Given the description of an element on the screen output the (x, y) to click on. 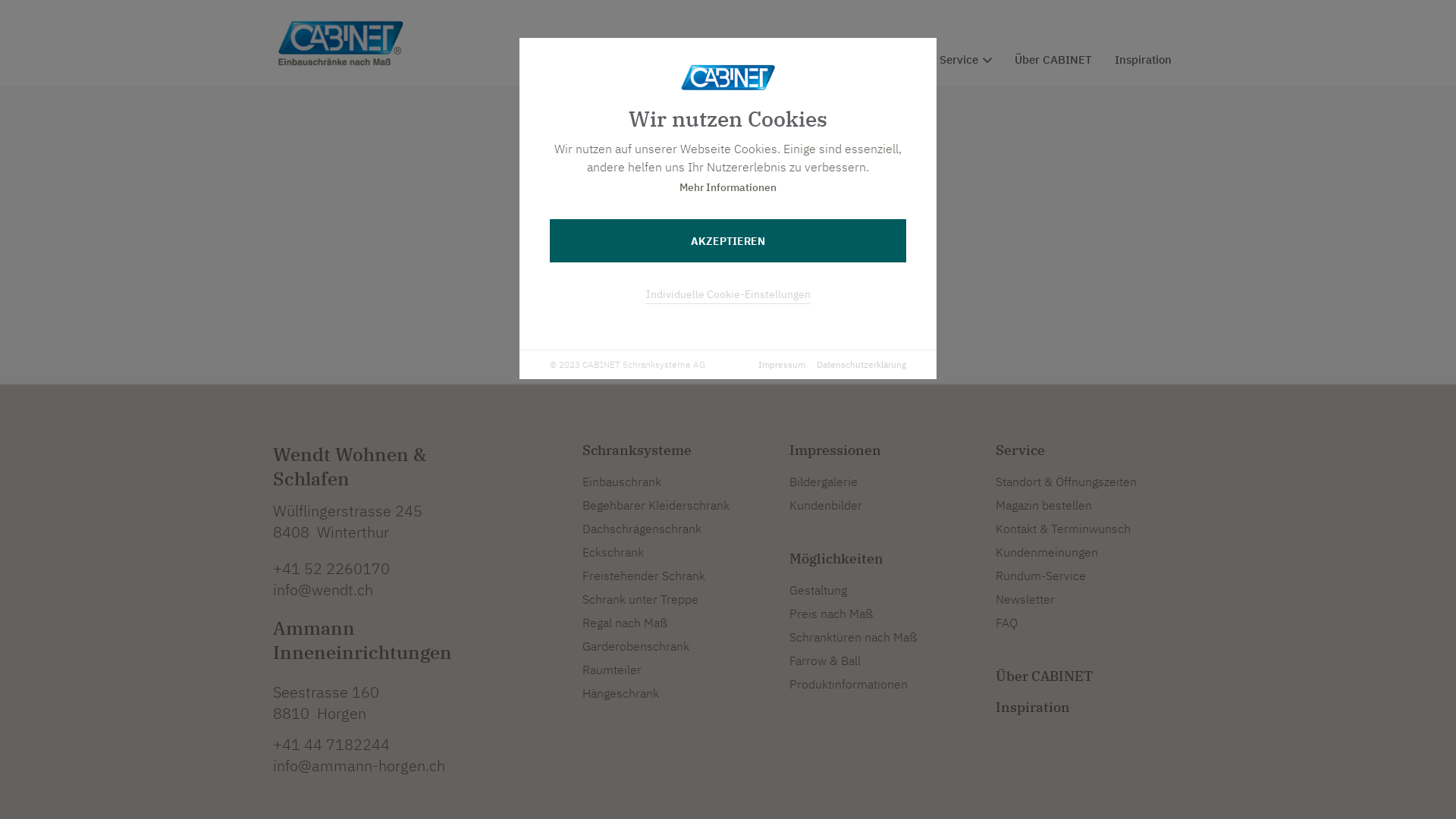
Newsletter Element type: text (1024, 598)
Schranksysteme Element type: text (650, 59)
Produktinformationen Element type: text (848, 683)
+41 44 7182244 Element type: text (331, 744)
Inspiration Element type: text (1032, 706)
Impressionen Element type: text (835, 449)
Einbauschrank Element type: text (621, 481)
Impressum Element type: text (781, 364)
Rundum-Service Element type: text (1040, 575)
Freistehender Schrank Element type: text (643, 575)
FAQ Element type: text (1006, 622)
Individuelle Cookie-Einstellungen Element type: text (728, 294)
Bildergalerie Element type: text (823, 481)
Garderobenschrank Element type: text (635, 645)
Raumteiler Element type: text (611, 669)
+41 52 2260170 Element type: text (331, 568)
Service Element type: text (965, 59)
Magazin bestellen Element type: text (1066, 14)
AKZEPTIEREN Element type: text (727, 240)
Umwelt Element type: text (1155, 14)
Schranksysteme Element type: text (636, 449)
Begehbarer Kleiderschrank Element type: text (655, 504)
Magazin bestellen Element type: text (1043, 504)
Inspiration Element type: text (1143, 59)
Mehr Informationen Element type: text (727, 187)
info@ammann-horgen.ch Element type: text (359, 765)
info@wendt.ch Element type: text (323, 589)
Schrank unter Treppe Element type: text (640, 598)
Gestaltung Element type: text (818, 589)
Kundenbilder Element type: text (825, 504)
Kontakt & Terminwunsch Element type: text (1062, 528)
Service Element type: text (1019, 449)
Farrow & Ball Element type: text (824, 660)
Kundenmeinungen Element type: text (1046, 551)
Impressionen Element type: text (765, 59)
Eckschrank Element type: text (612, 551)
